Given the description of an element on the screen output the (x, y) to click on. 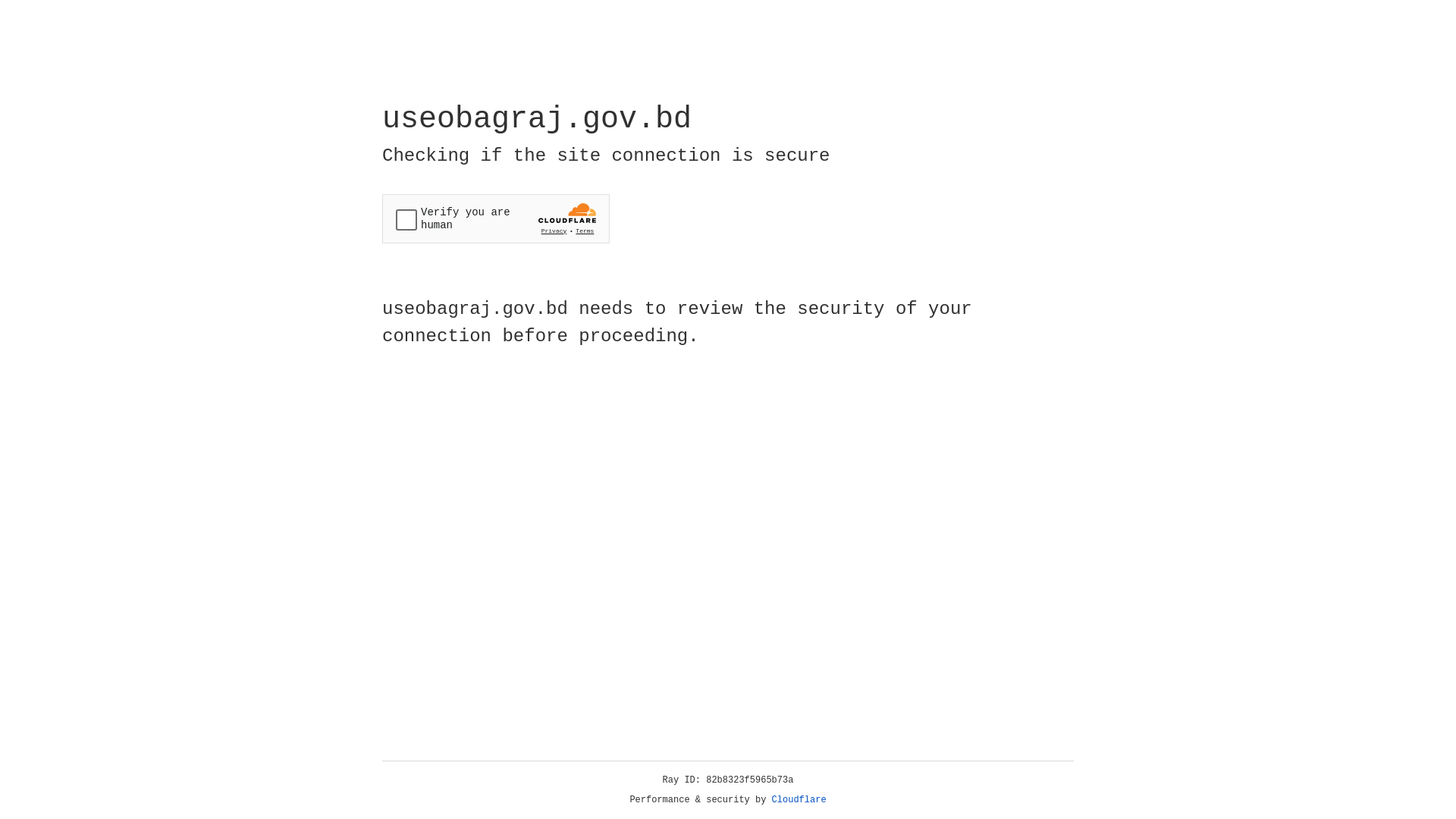
Widget containing a Cloudflare security challenge Element type: hover (495, 218)
Cloudflare Element type: text (798, 799)
